Given the description of an element on the screen output the (x, y) to click on. 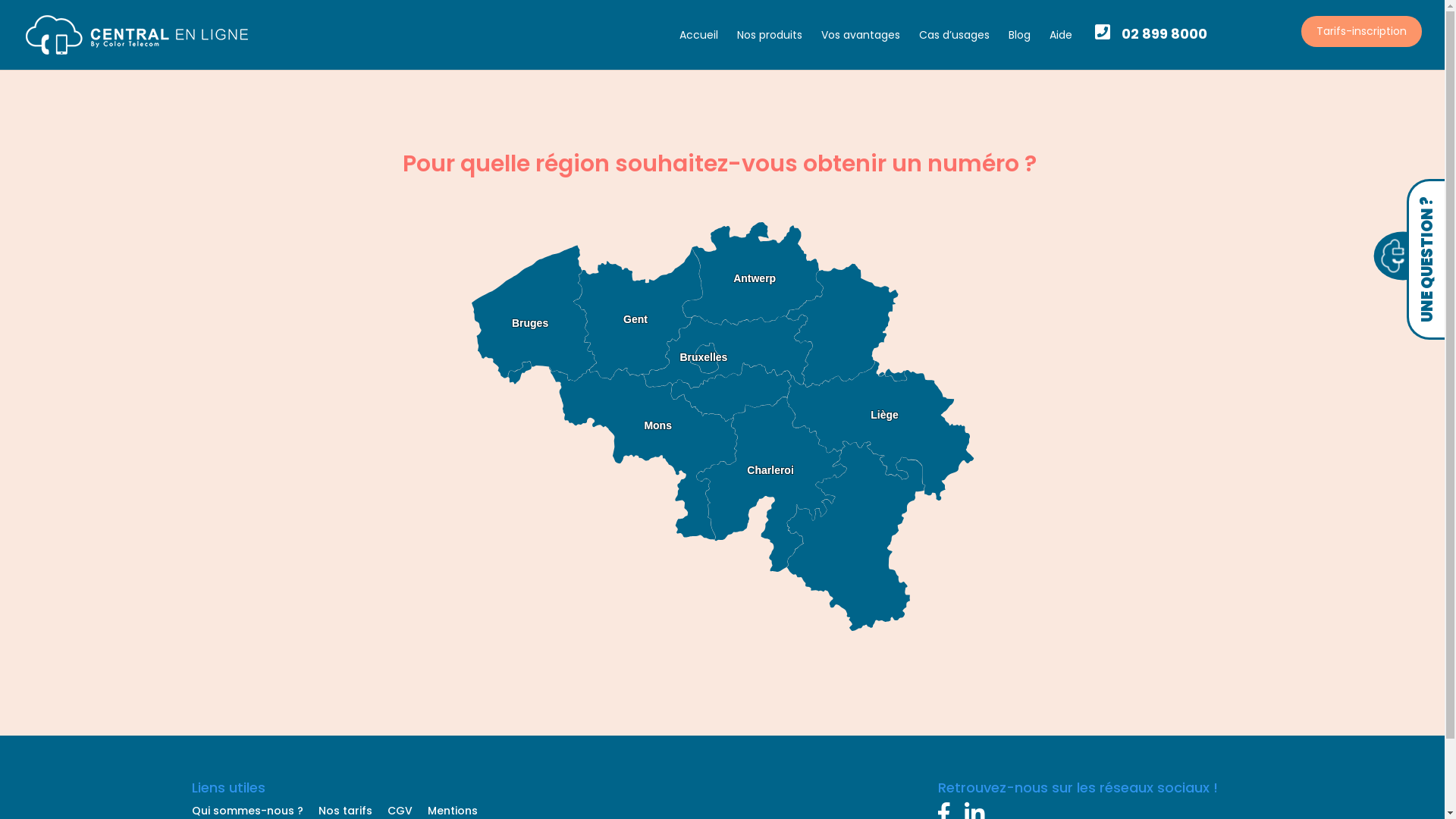
Vos avantages Element type: text (860, 49)
Blog Element type: text (1019, 49)
Qui sommes-nous ? Element type: text (246, 810)
Tarifs-inscription Element type: text (1361, 31)
Accueil Element type: text (698, 49)
Nos produits Element type: text (769, 49)
Aide Element type: text (1060, 49)
Nos tarifs Element type: text (345, 810)
CGV Element type: text (398, 810)
